Given the description of an element on the screen output the (x, y) to click on. 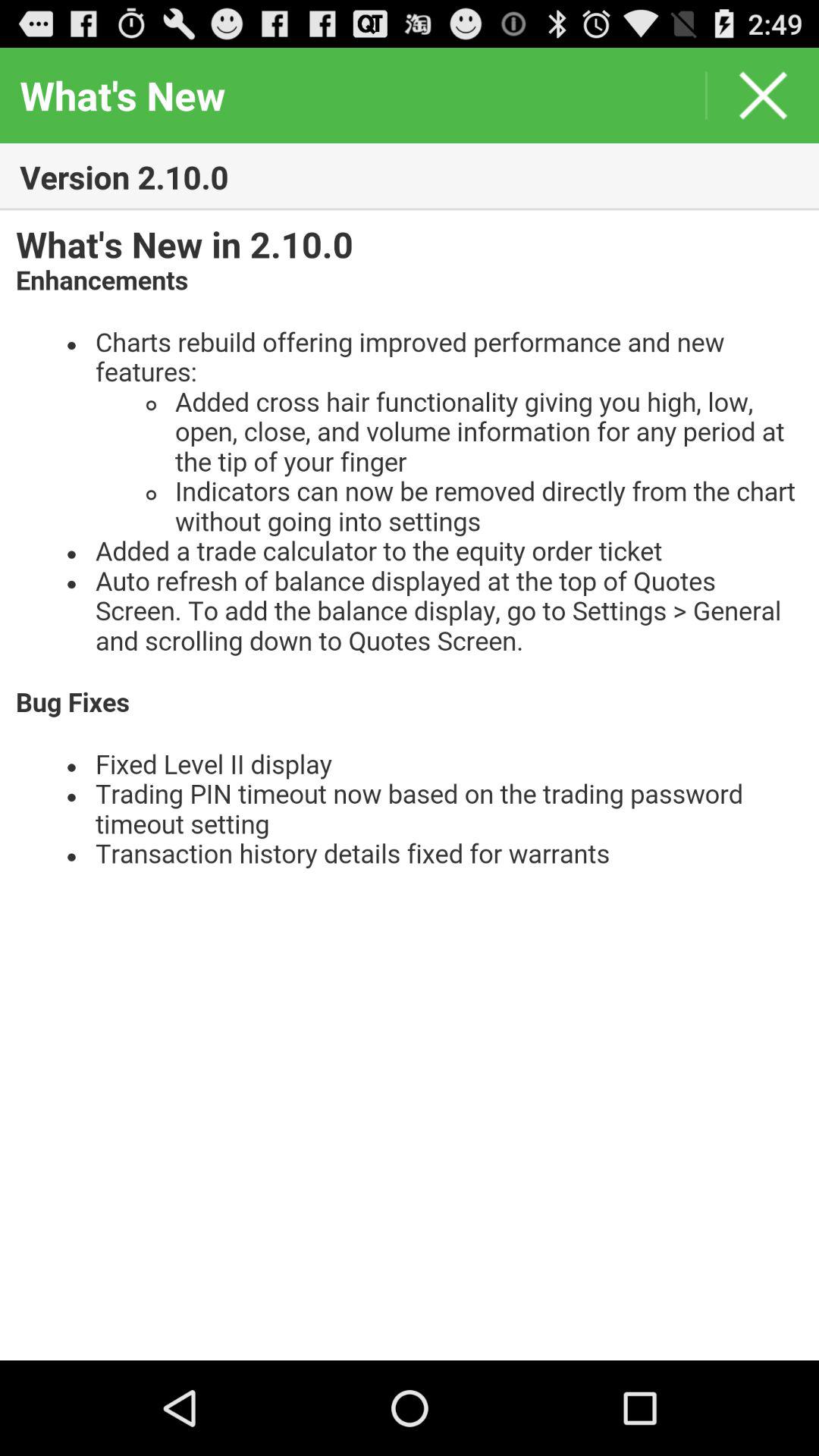
file (409, 785)
